Given the description of an element on the screen output the (x, y) to click on. 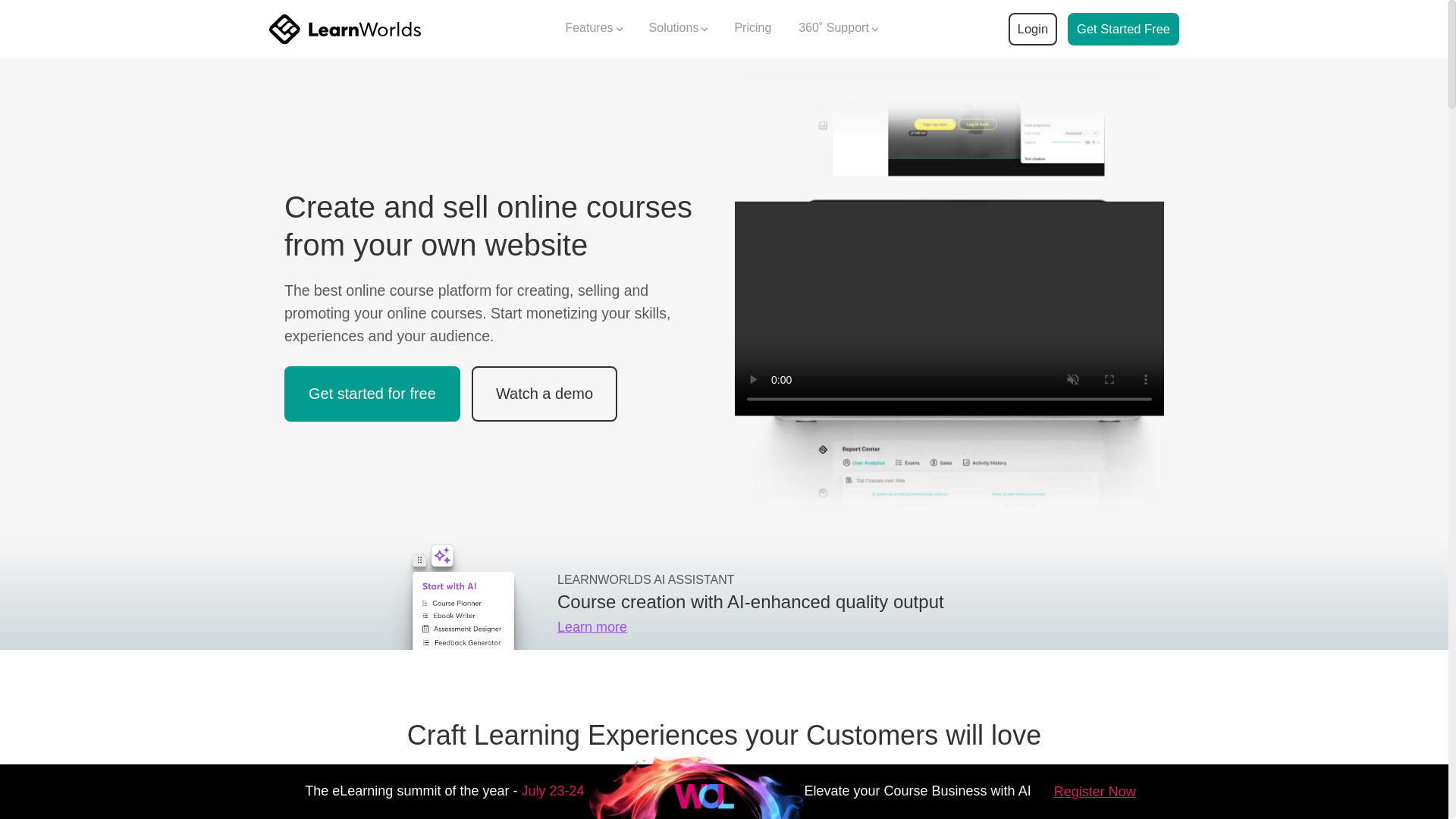
Features (592, 29)
Start your demo with LearnWorlds (1123, 29)
Login to your LearnWorlds account (1032, 29)
Chat (1417, 691)
LearnWorlds home (344, 28)
